Given the description of an element on the screen output the (x, y) to click on. 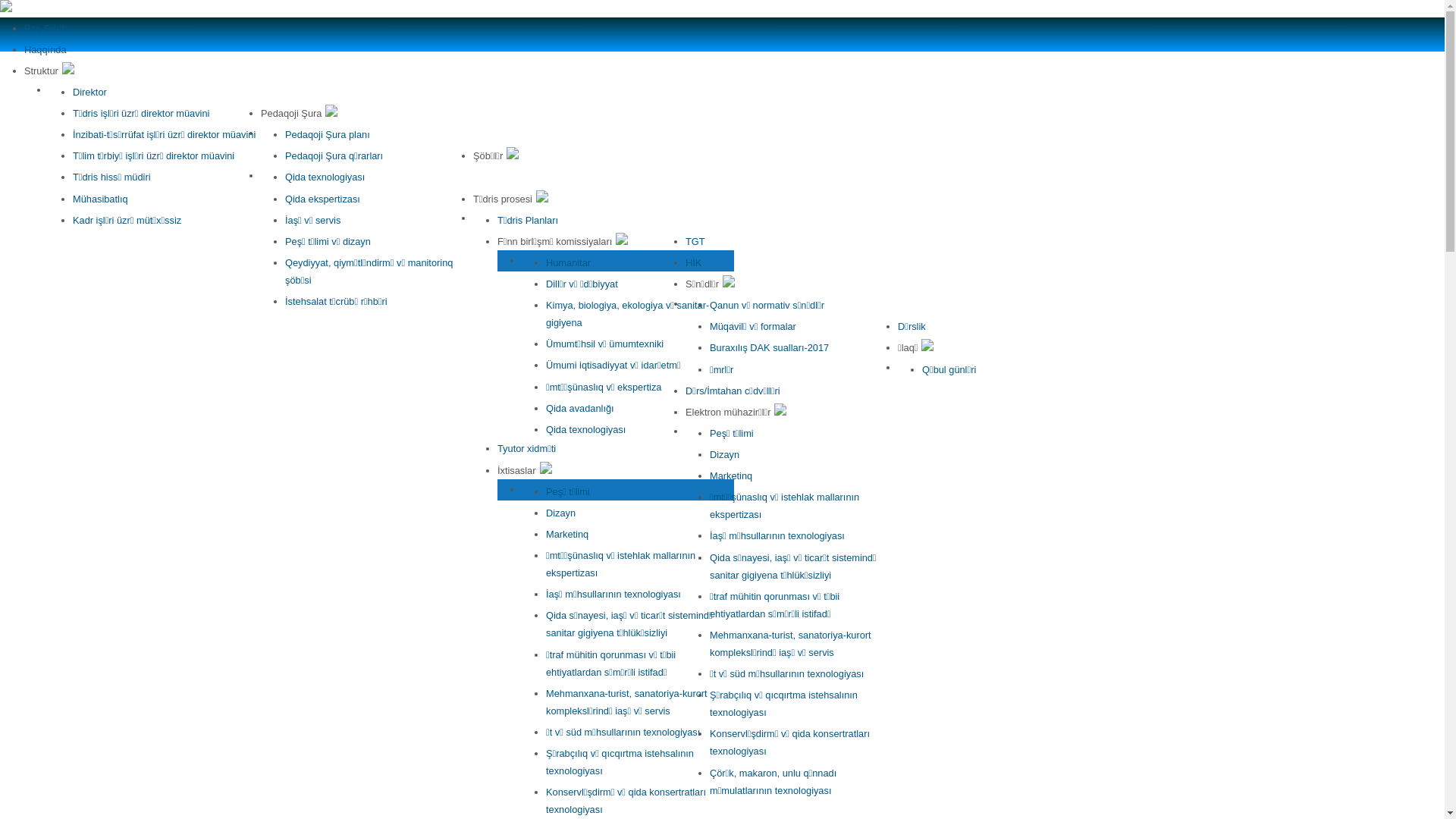
Struktur Element type: text (49, 70)
TGT Element type: text (695, 241)
Dizayn Element type: text (724, 454)
Dizayn Element type: text (560, 512)
Humanitar Element type: text (568, 262)
Marketinq Element type: text (730, 475)
Marketinq Element type: text (567, 533)
Direktor Element type: text (89, 91)
